Given the description of an element on the screen output the (x, y) to click on. 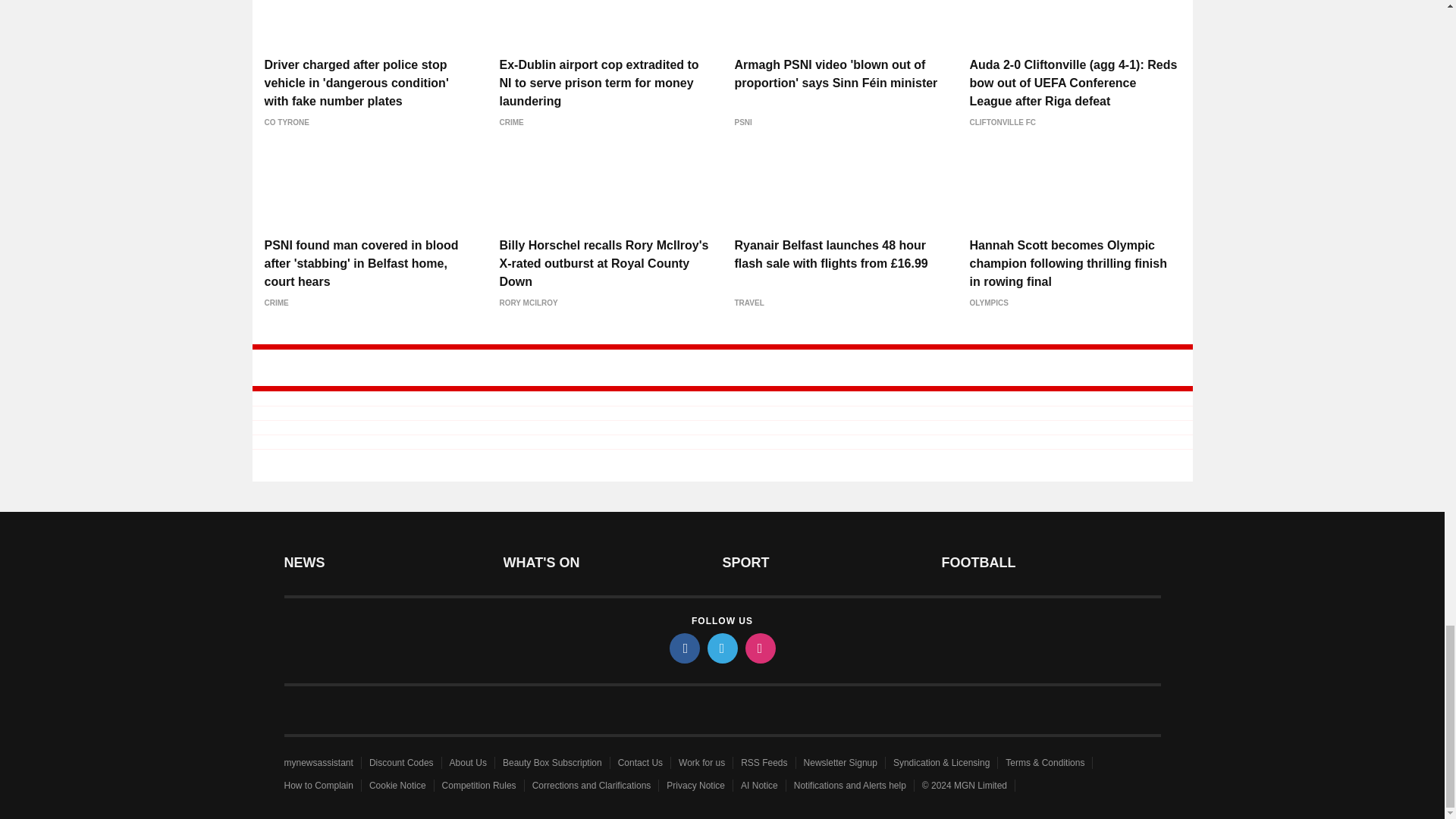
instagram (759, 648)
facebook (683, 648)
twitter (721, 648)
